Given the description of an element on the screen output the (x, y) to click on. 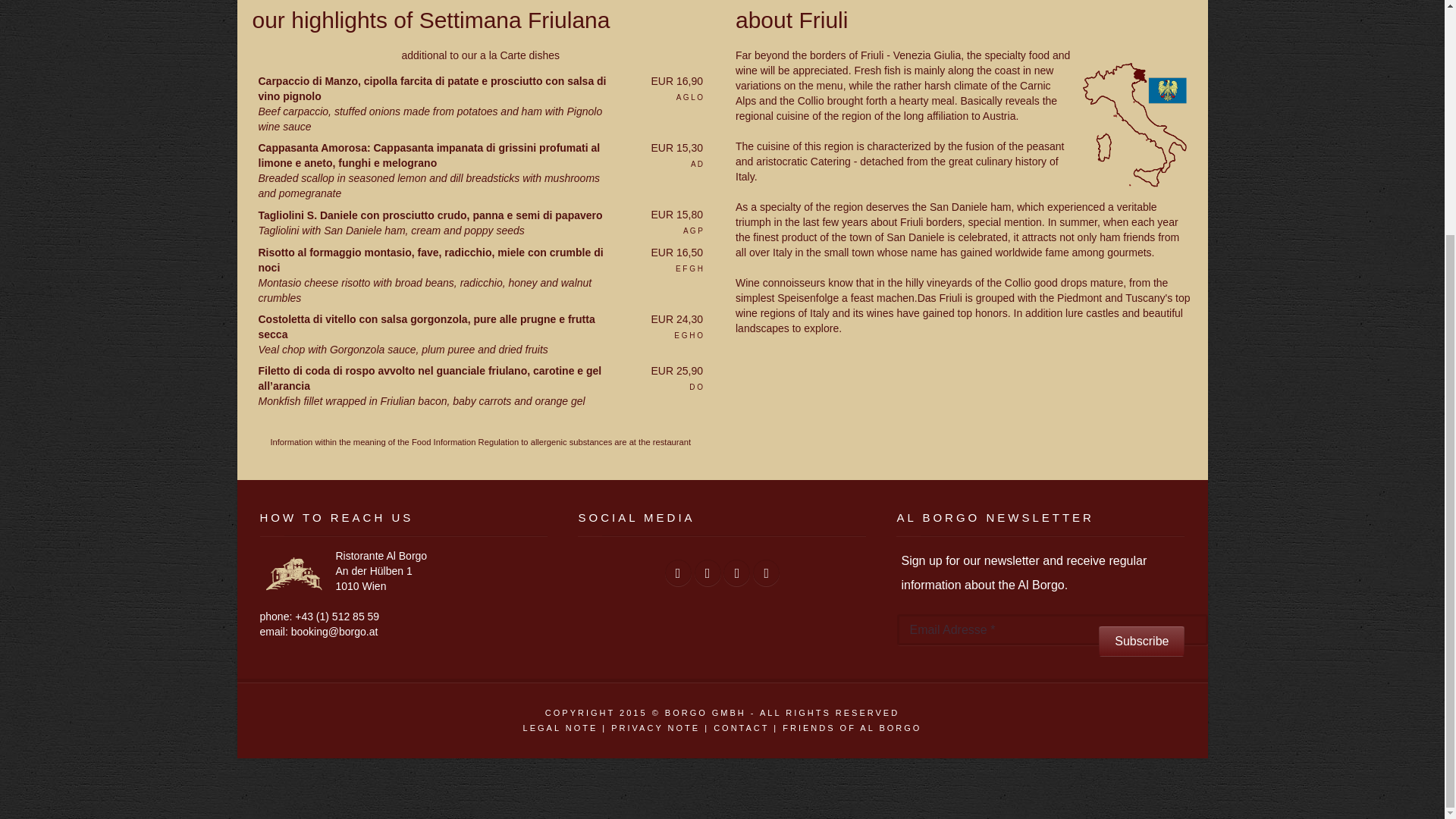
LEGAL NOTE (560, 727)
PRIVACY NOTE (655, 727)
CONTACT (740, 727)
Subscribe (1142, 640)
Al Borgo Settimana Friulana (1135, 124)
FRIENDS OF AL BORGO (852, 727)
